Given the description of an element on the screen output the (x, y) to click on. 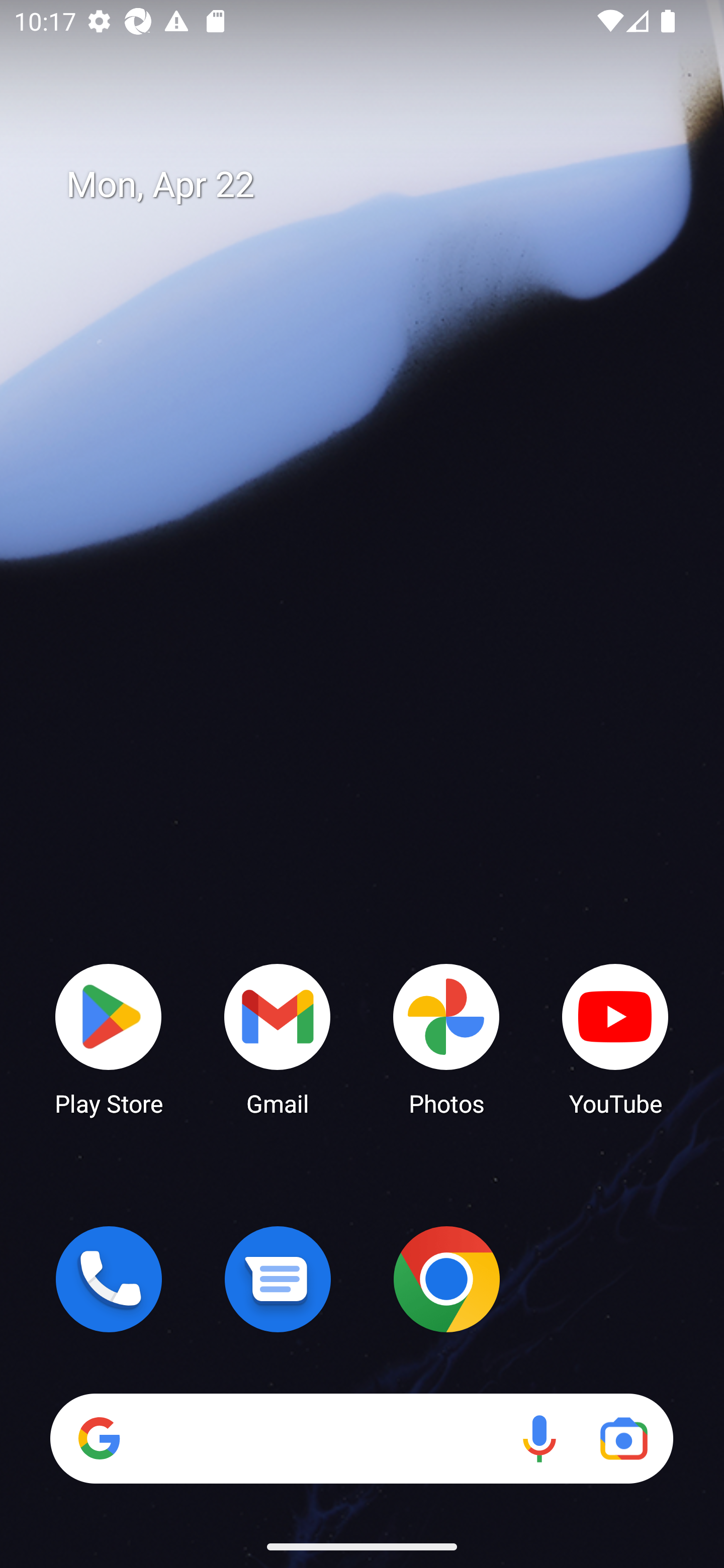
Mon, Apr 22 (375, 184)
Play Store (108, 1038)
Gmail (277, 1038)
Photos (445, 1038)
YouTube (615, 1038)
Phone (108, 1279)
Messages (277, 1279)
Chrome (446, 1279)
Search Voice search Google Lens (361, 1438)
Voice search (539, 1438)
Google Lens (623, 1438)
